Given the description of an element on the screen output the (x, y) to click on. 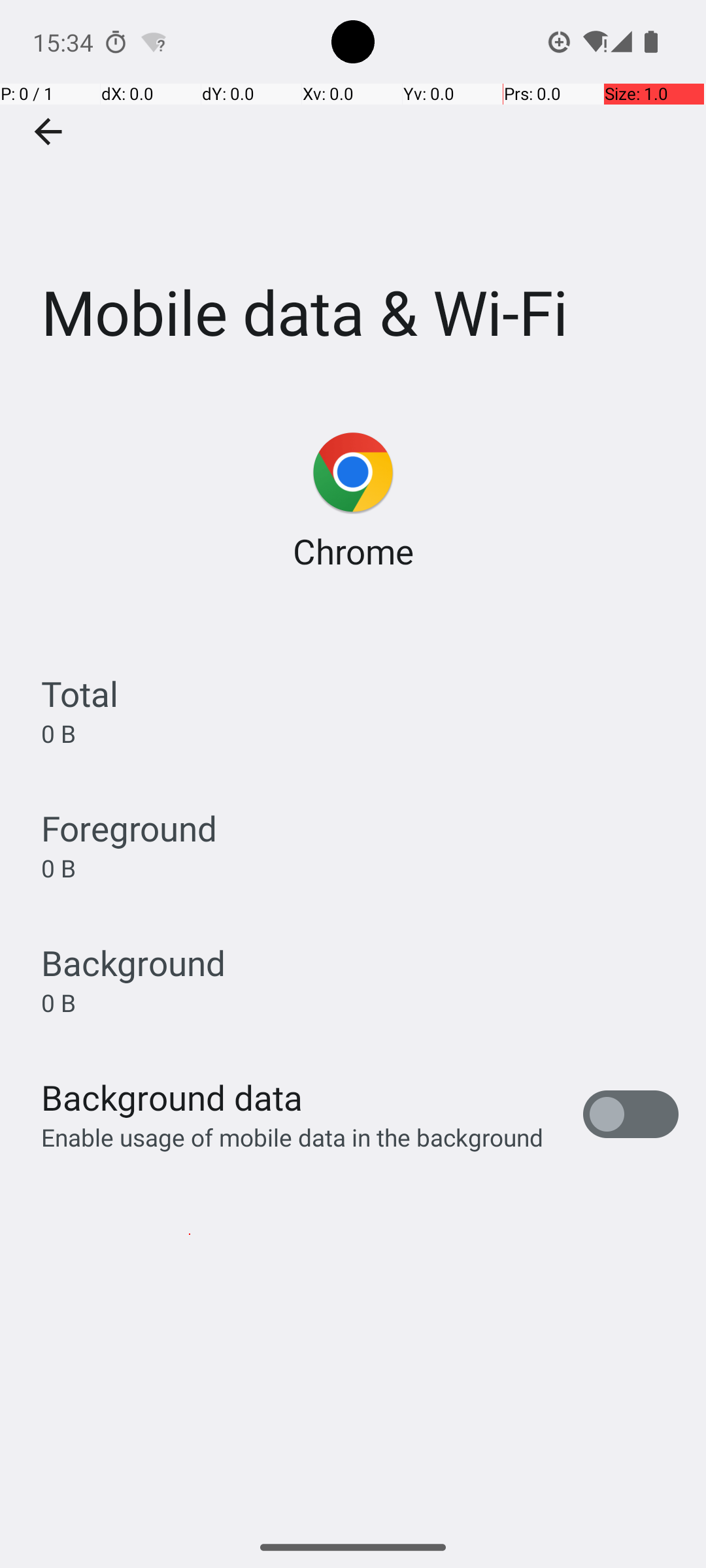
Background data Element type: android.widget.TextView (171, 1097)
Enable usage of mobile data in the background Element type: android.widget.TextView (292, 1136)
